Given the description of an element on the screen output the (x, y) to click on. 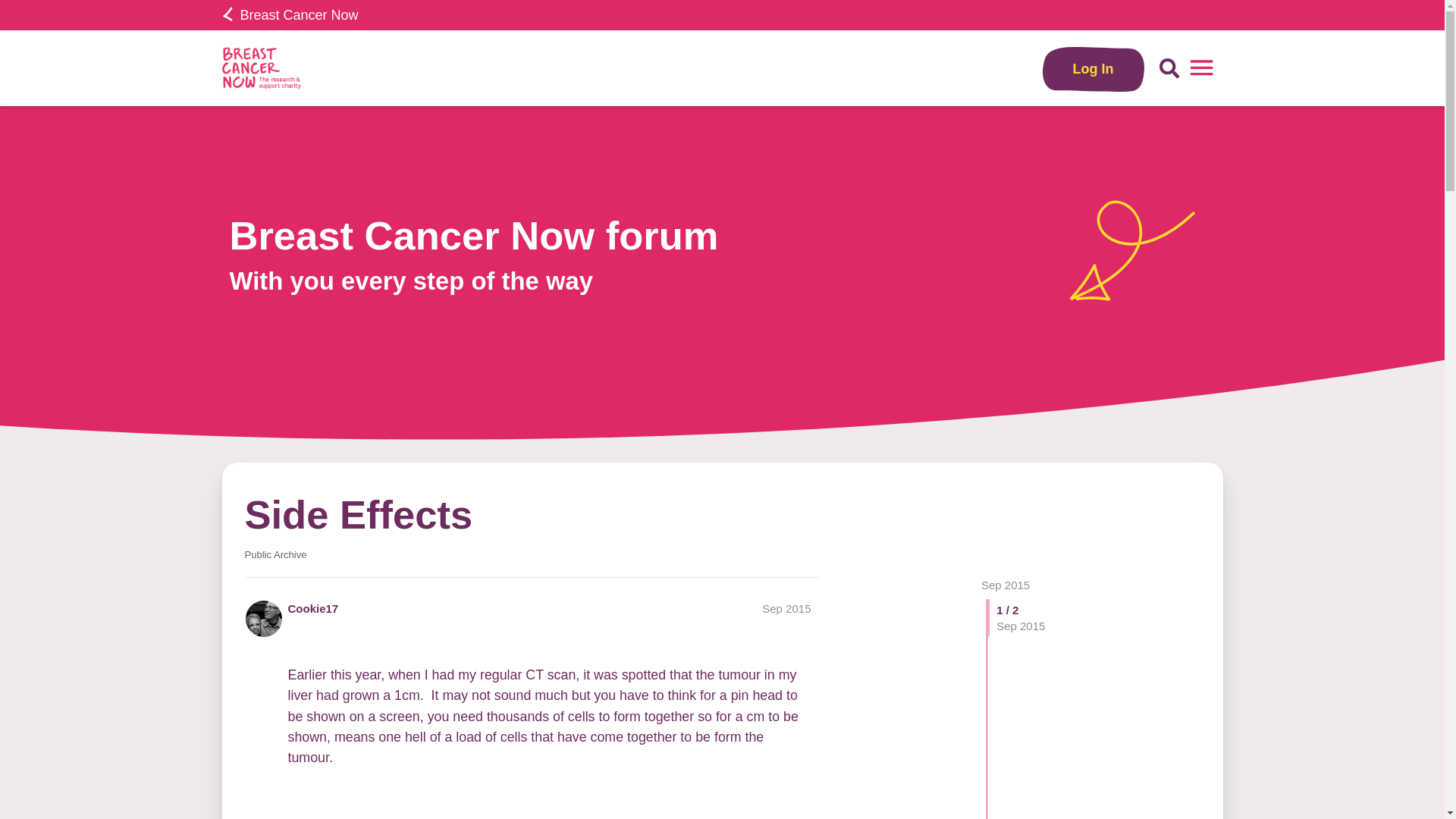
Side Effects (357, 514)
Sep 2015 (1005, 584)
Sep 2015 (1005, 584)
Cookie17 (313, 608)
Log In (1093, 68)
Public Archive (274, 554)
Breast Cancer Now (289, 15)
Sep 2015 (785, 608)
Search (1169, 68)
menu (1201, 67)
Post date (785, 608)
Archived posts which are available to view. (274, 554)
